Given the description of an element on the screen output the (x, y) to click on. 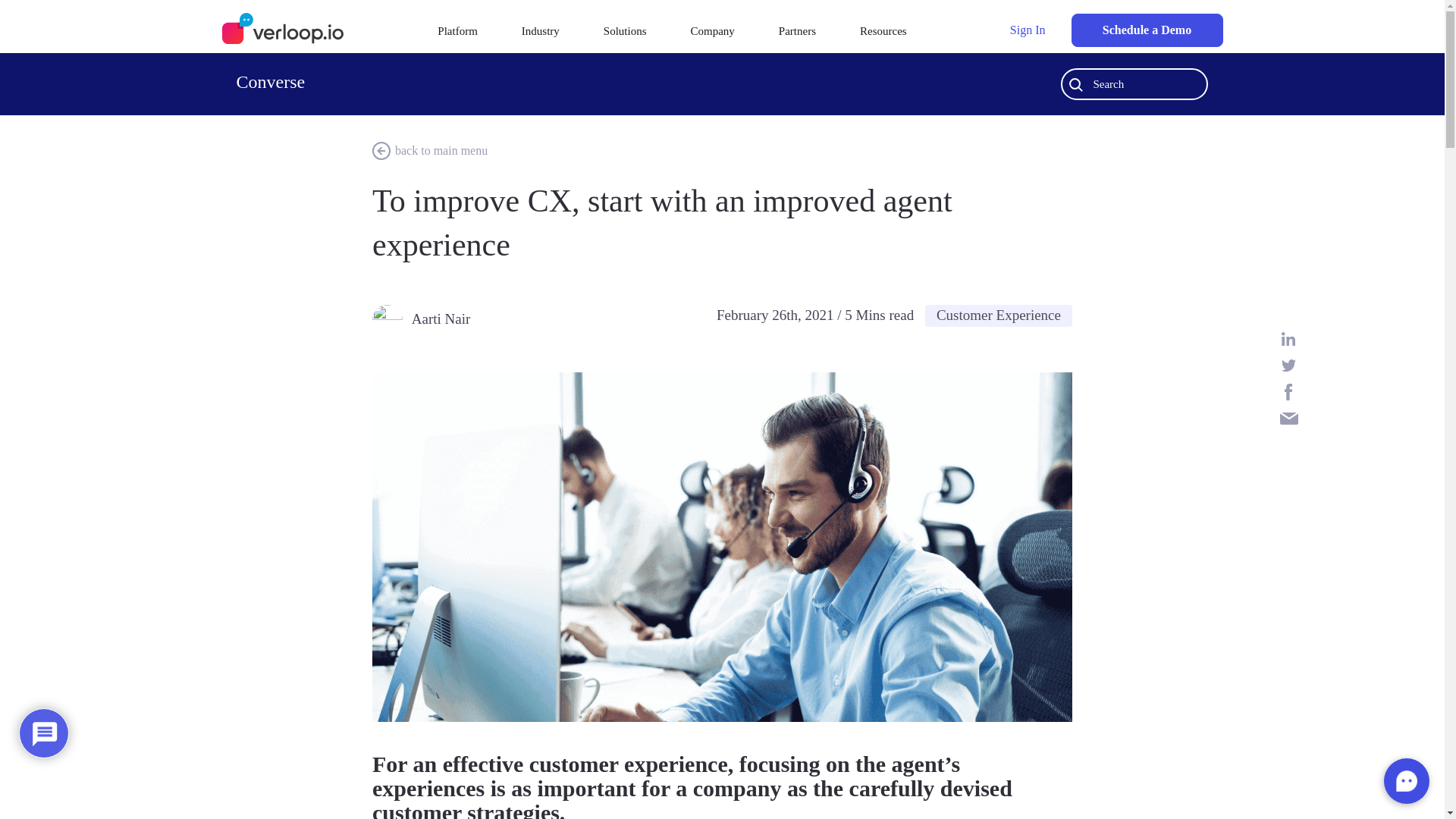
Platform (457, 31)
Company (711, 31)
Industry (540, 31)
Sign In (1027, 30)
Solutions (625, 31)
Resources (883, 31)
Schedule a Demo (1146, 29)
Partners (796, 31)
